Given the description of an element on the screen output the (x, y) to click on. 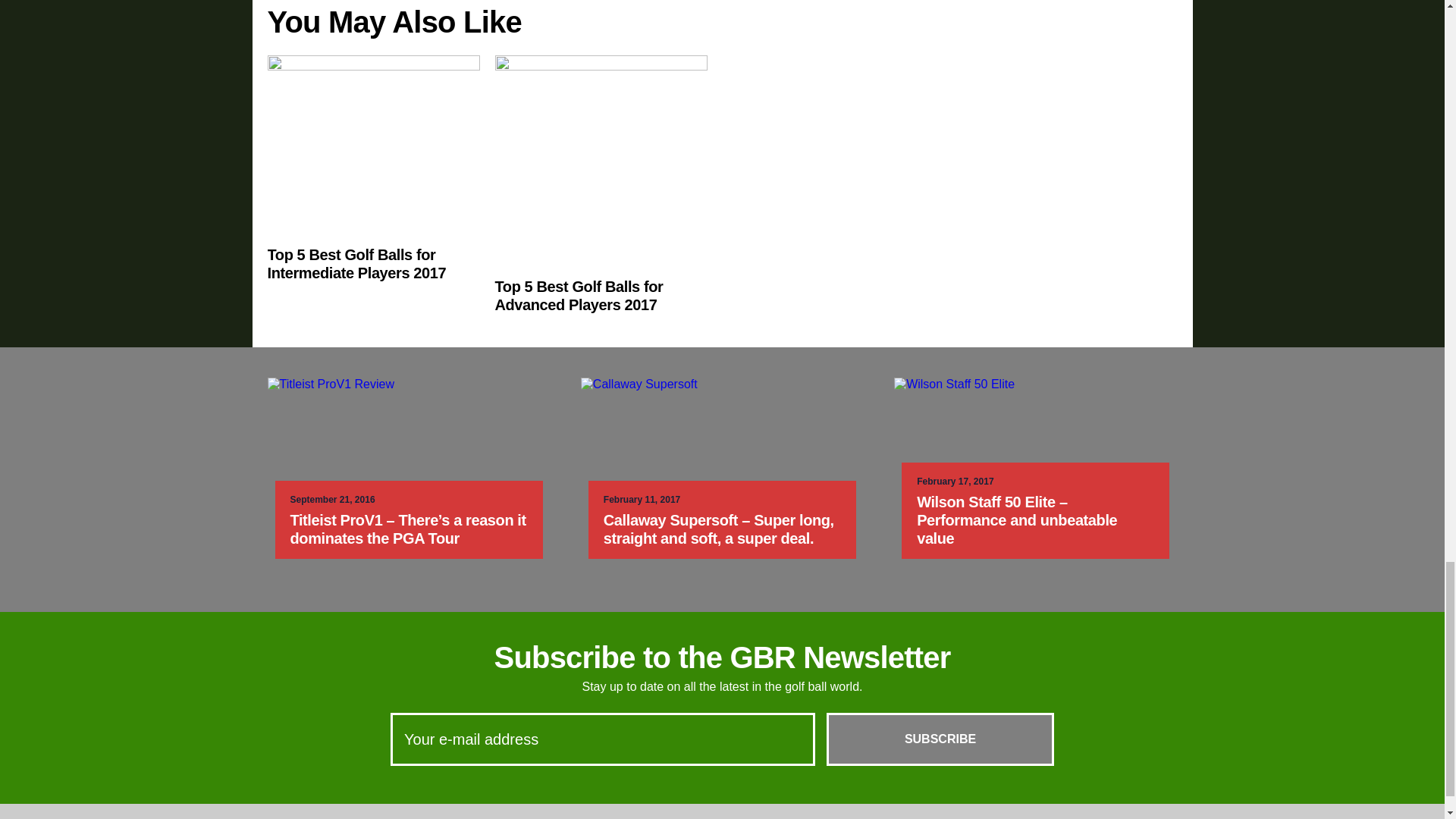
SUBSCRIBE (940, 738)
